Given the description of an element on the screen output the (x, y) to click on. 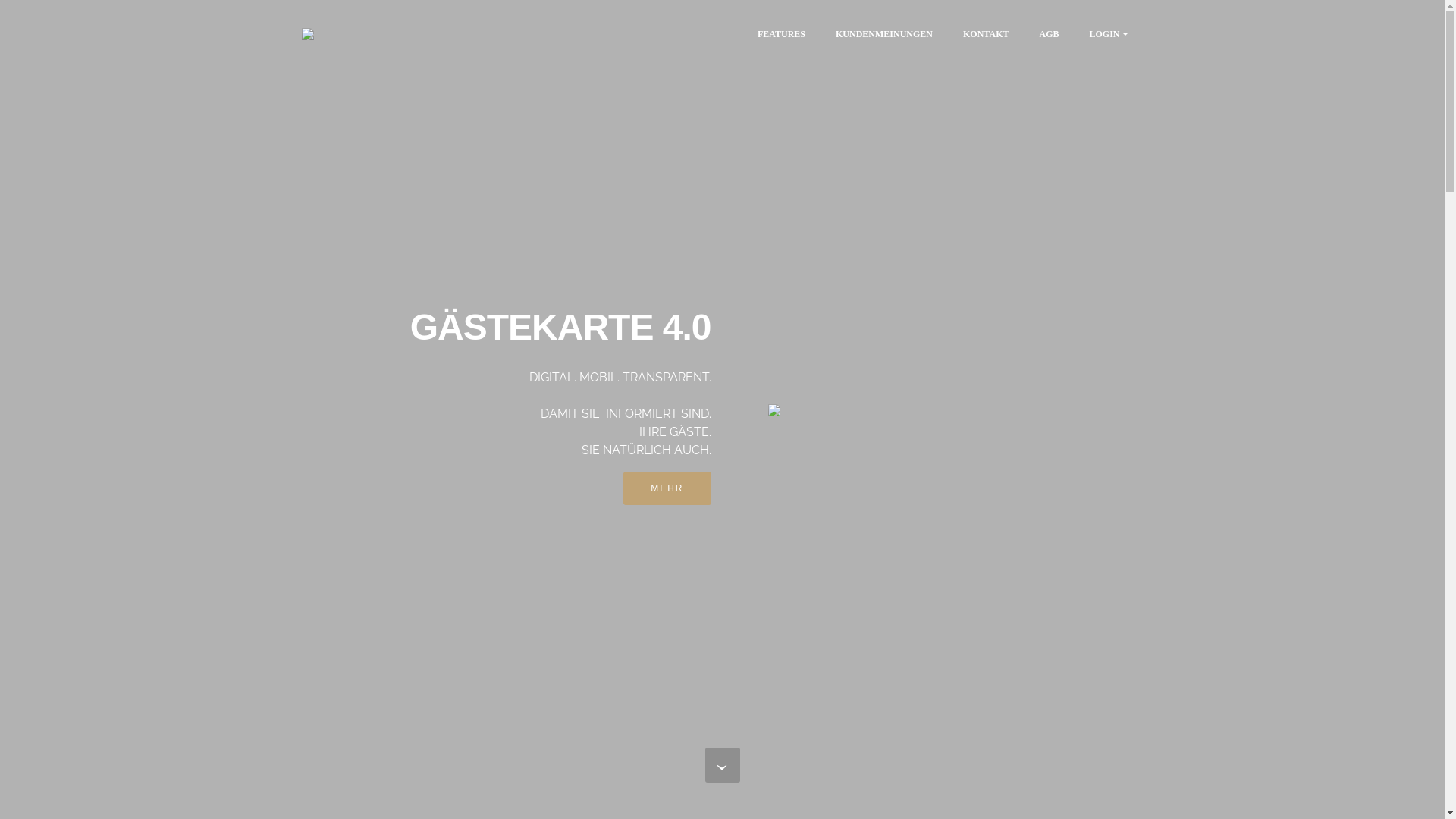
FEATURES Element type: text (781, 33)
KUNDENMEINUNGEN Element type: text (883, 33)
AGB Element type: text (1048, 33)
LOGIN Element type: text (1103, 33)
MEHR Element type: text (666, 488)
KONTAKT Element type: text (985, 33)
